Given the description of an element on the screen output the (x, y) to click on. 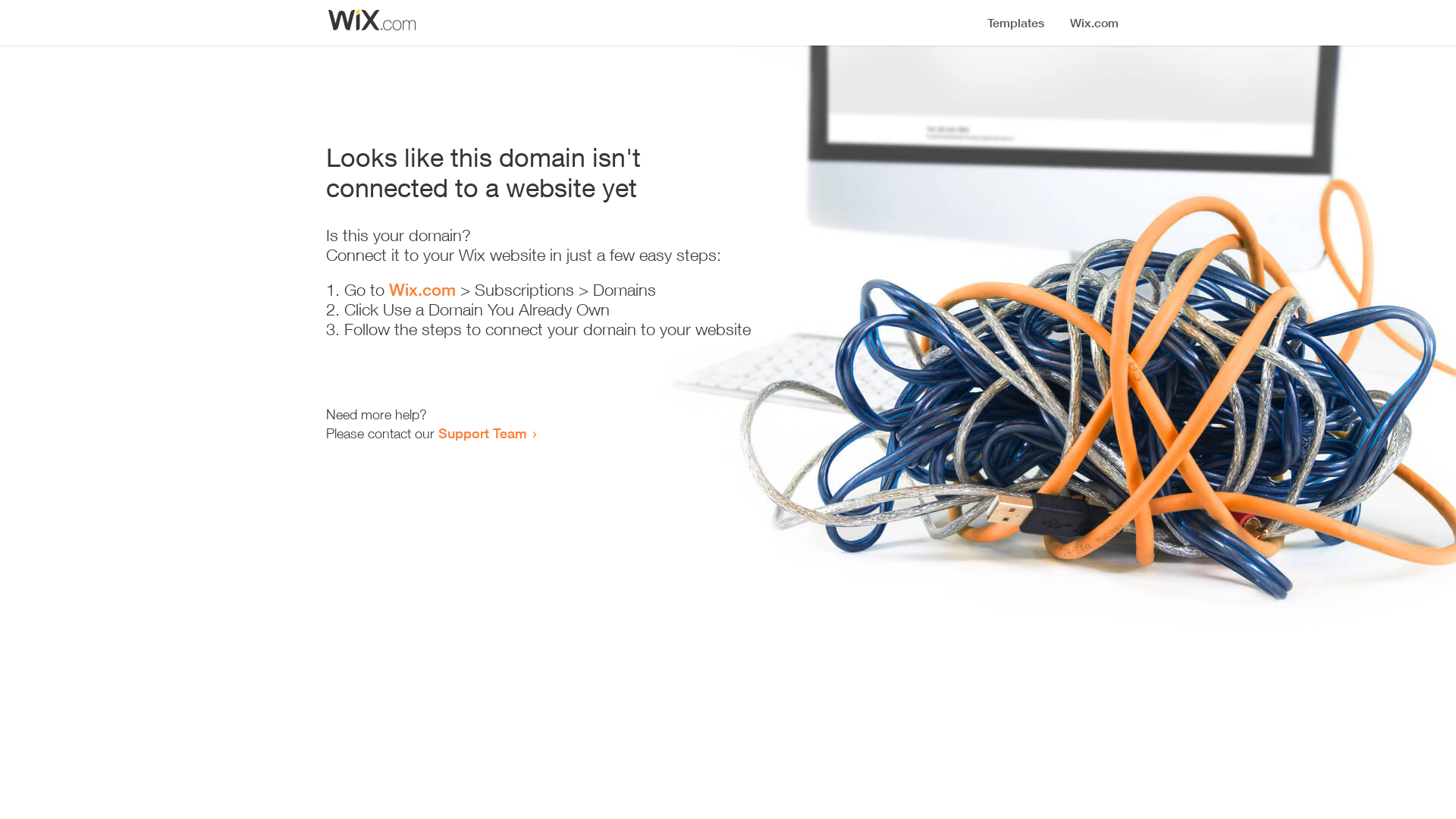
Support Team Element type: text (482, 432)
Wix.com Element type: text (422, 289)
